Given the description of an element on the screen output the (x, y) to click on. 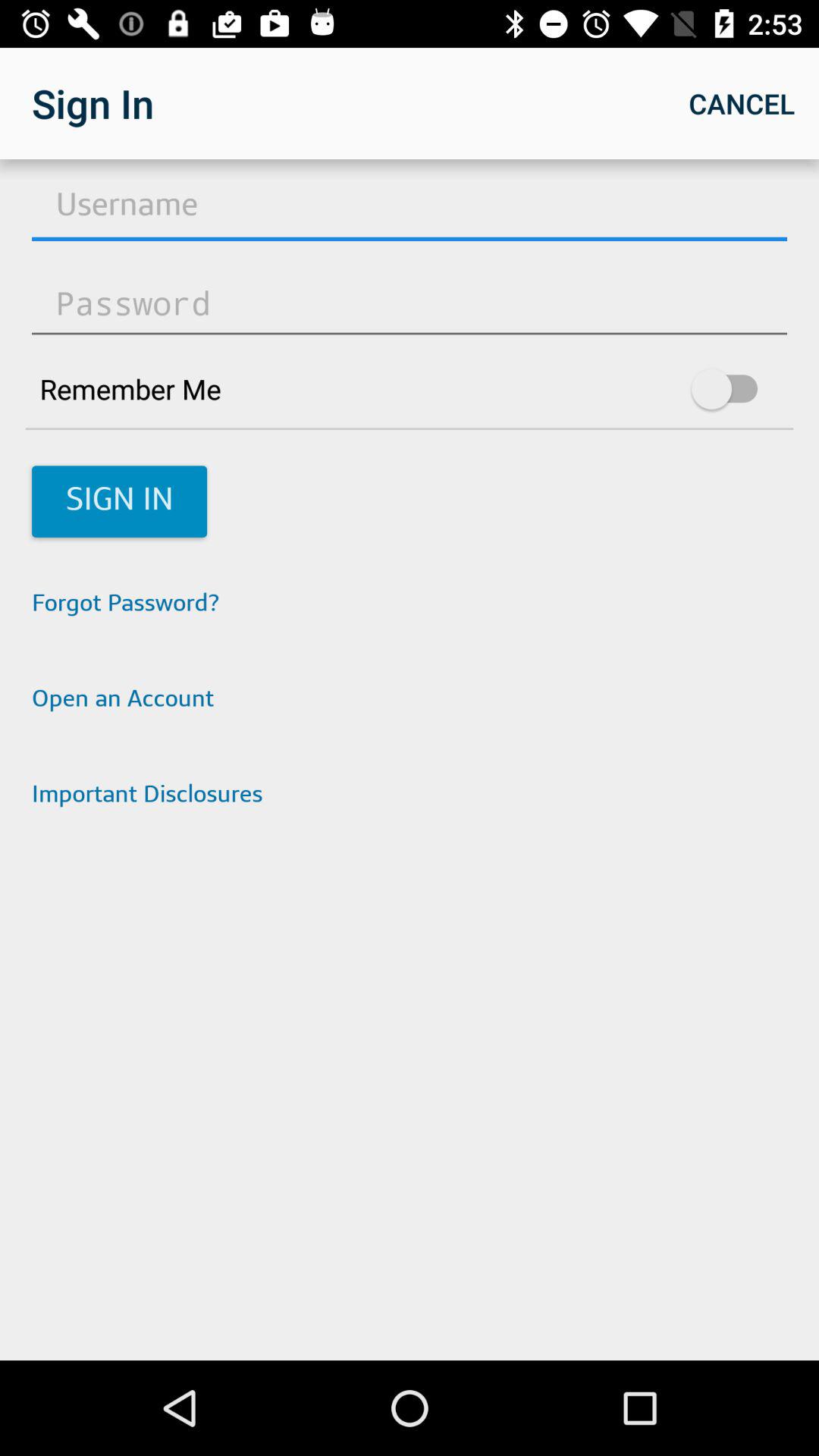
select the app below open an account item (409, 796)
